Given the description of an element on the screen output the (x, y) to click on. 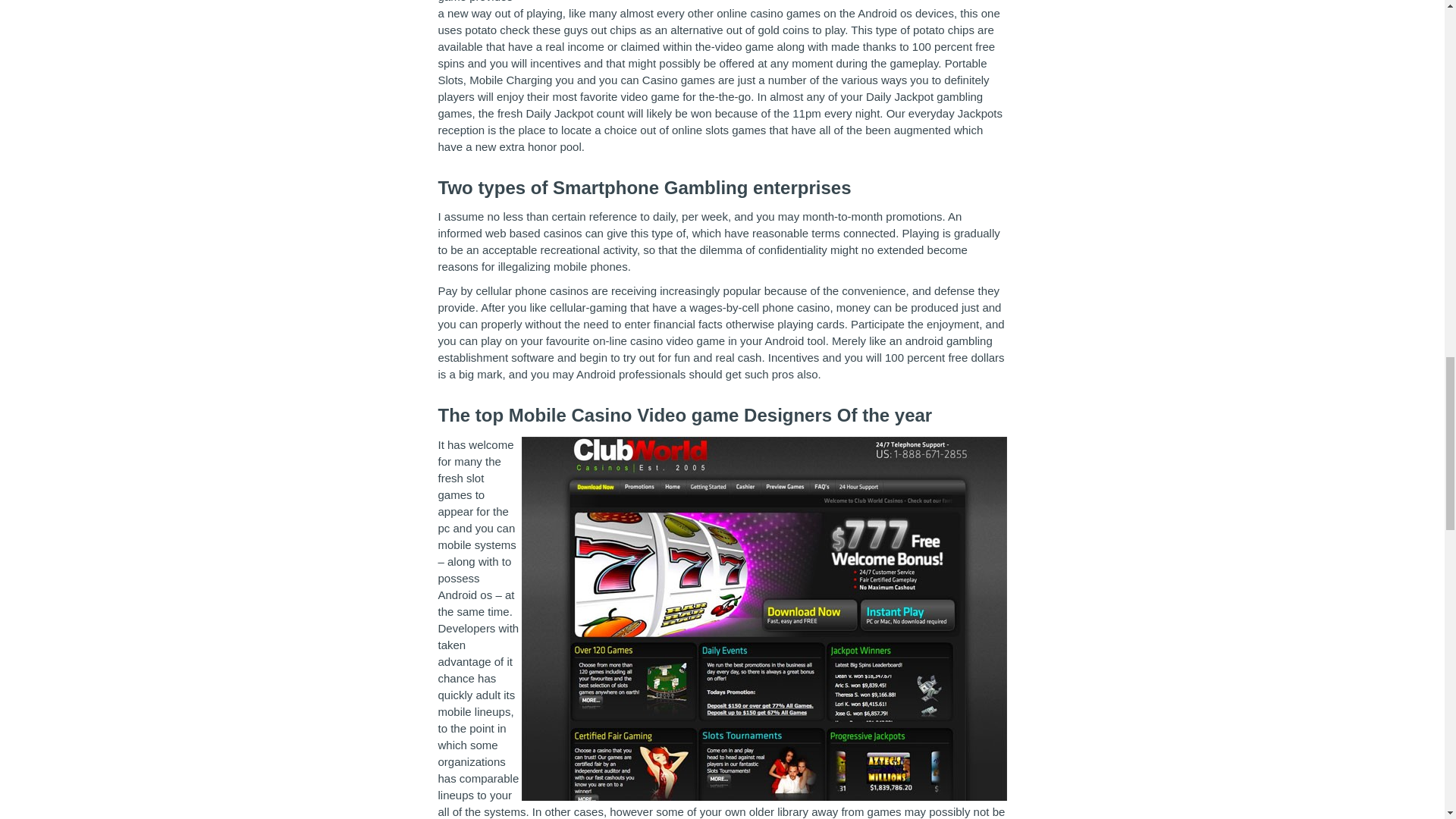
check these guys out (553, 29)
